Given the description of an element on the screen output the (x, y) to click on. 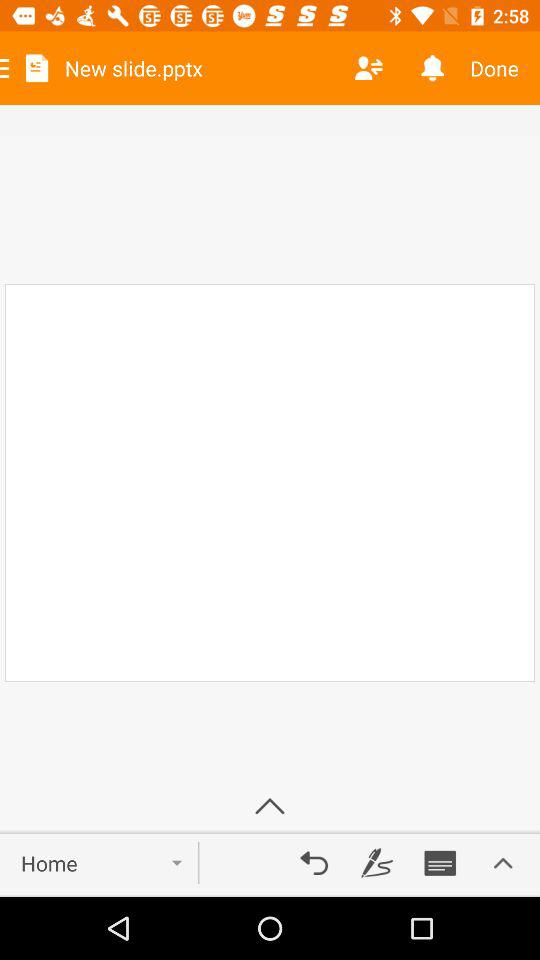
digit the text (377, 863)
